Given the description of an element on the screen output the (x, y) to click on. 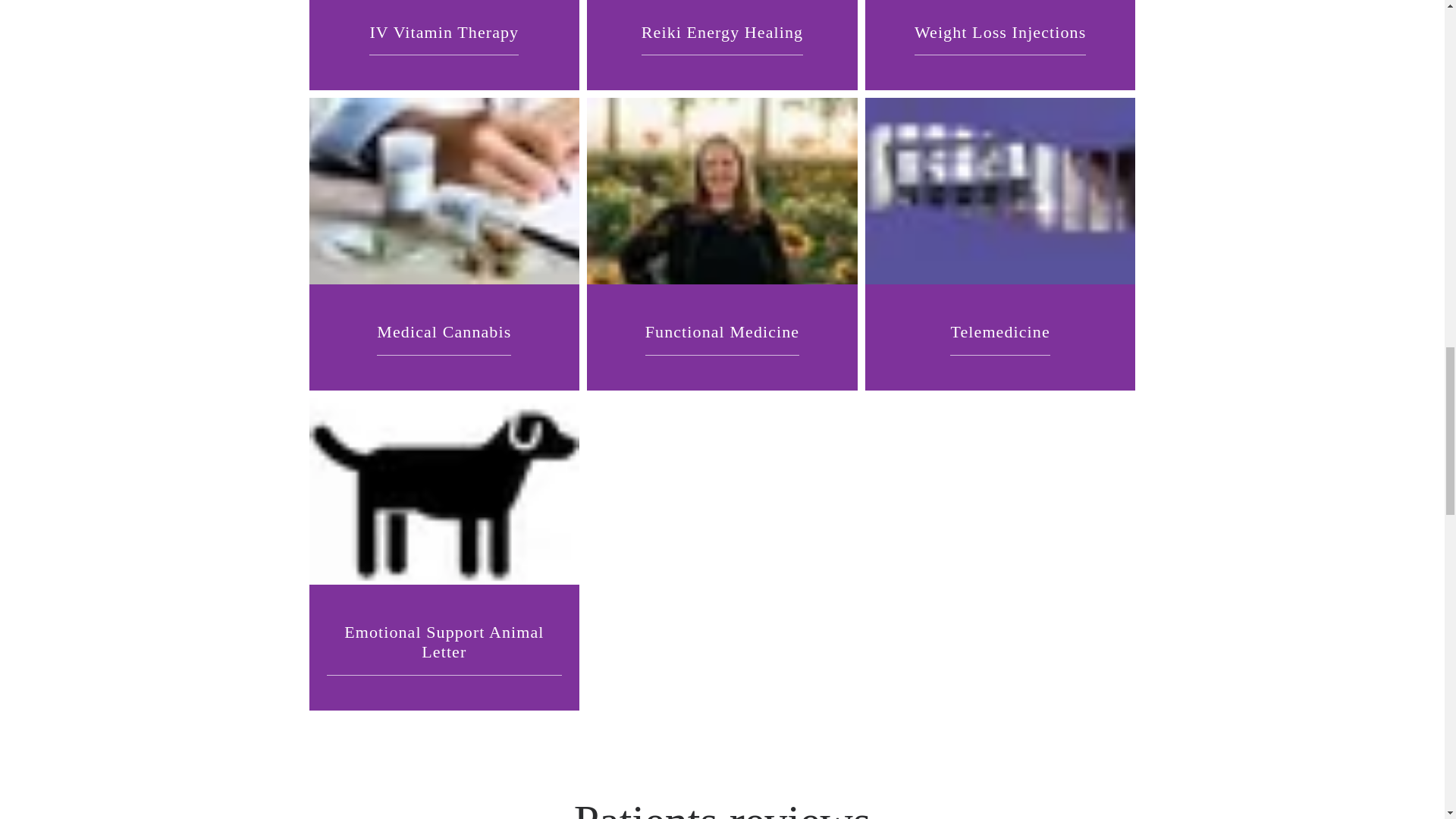
Weight Loss Injections (1000, 32)
Medical Cannabis (444, 331)
IV Vitamin Therapy (443, 32)
Reiki Energy Healing (722, 32)
Functional Medicine (722, 331)
